Given the description of an element on the screen output the (x, y) to click on. 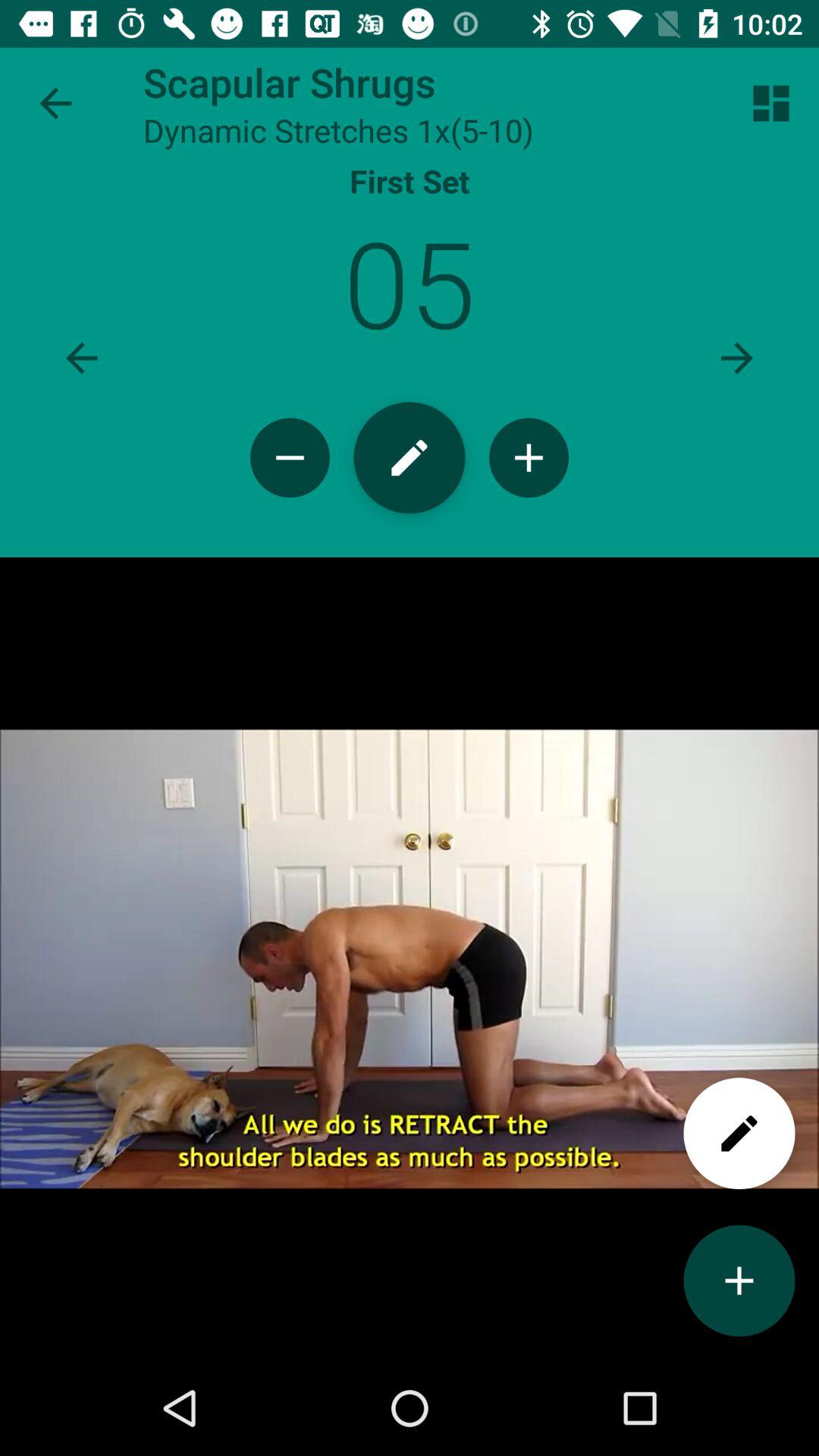
add option (739, 1280)
